Given the description of an element on the screen output the (x, y) to click on. 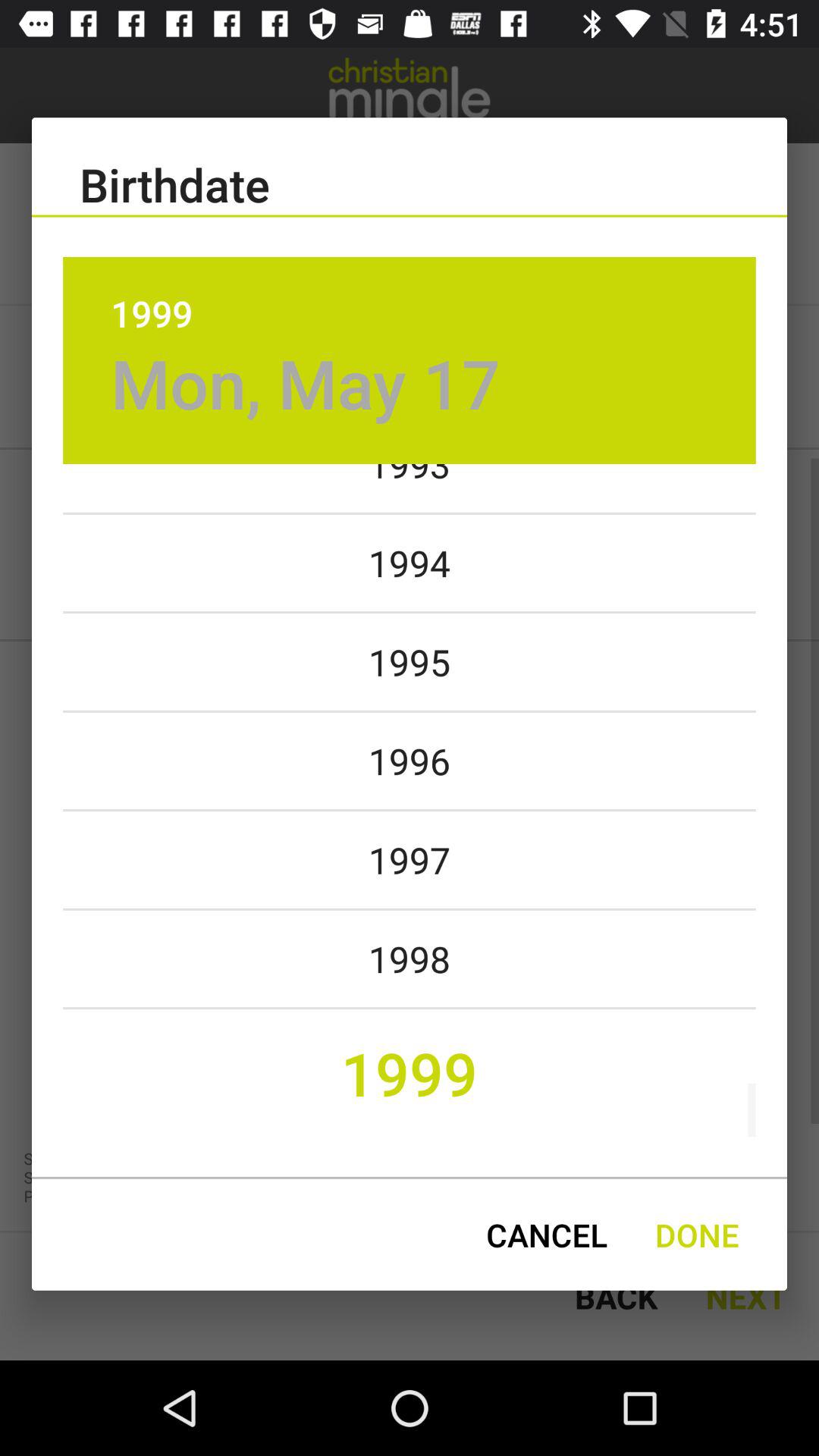
flip to the mon, may 17 (305, 382)
